Given the description of an element on the screen output the (x, y) to click on. 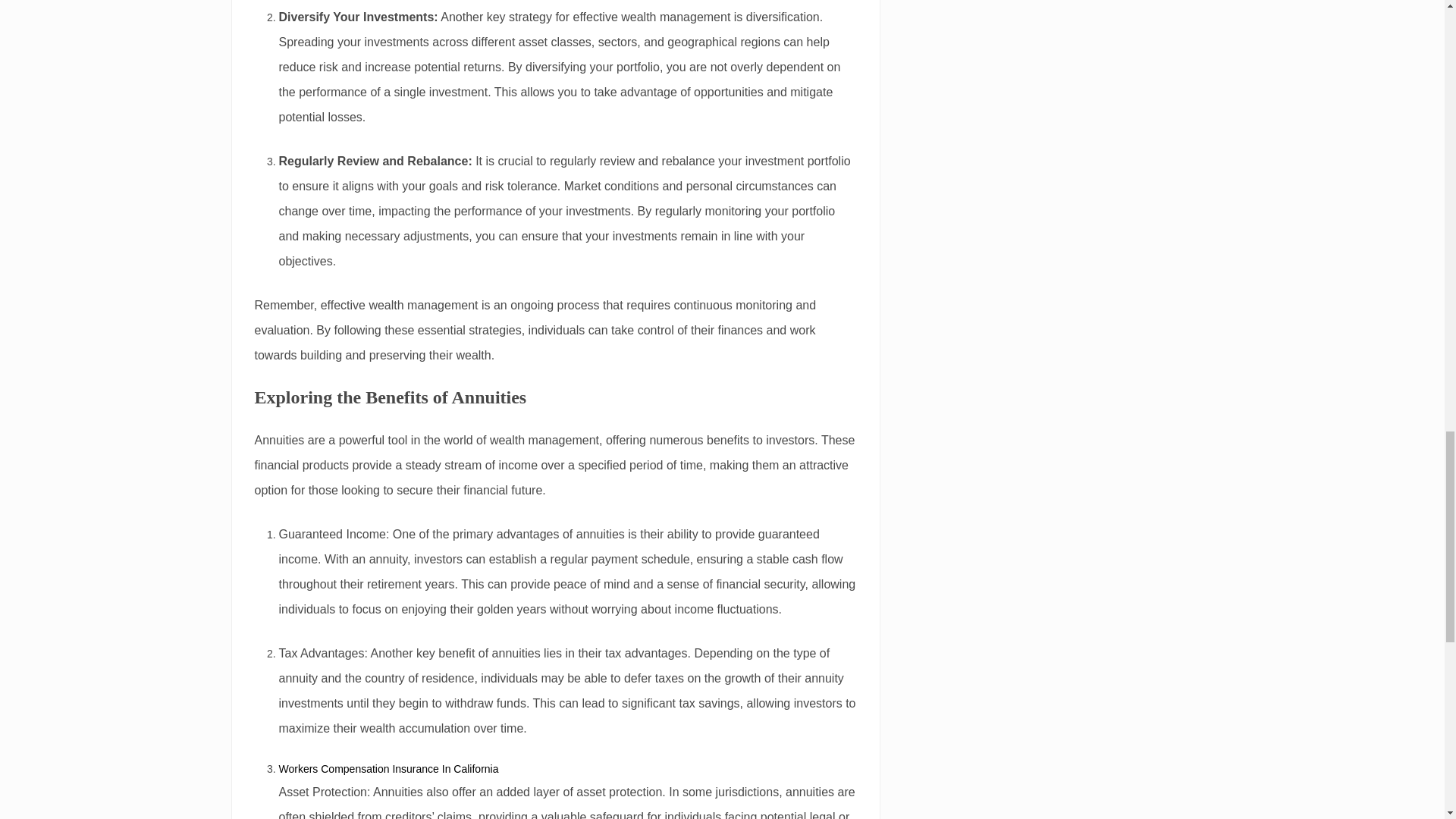
Workers Compensation Insurance In California (389, 768)
